Given the description of an element on the screen output the (x, y) to click on. 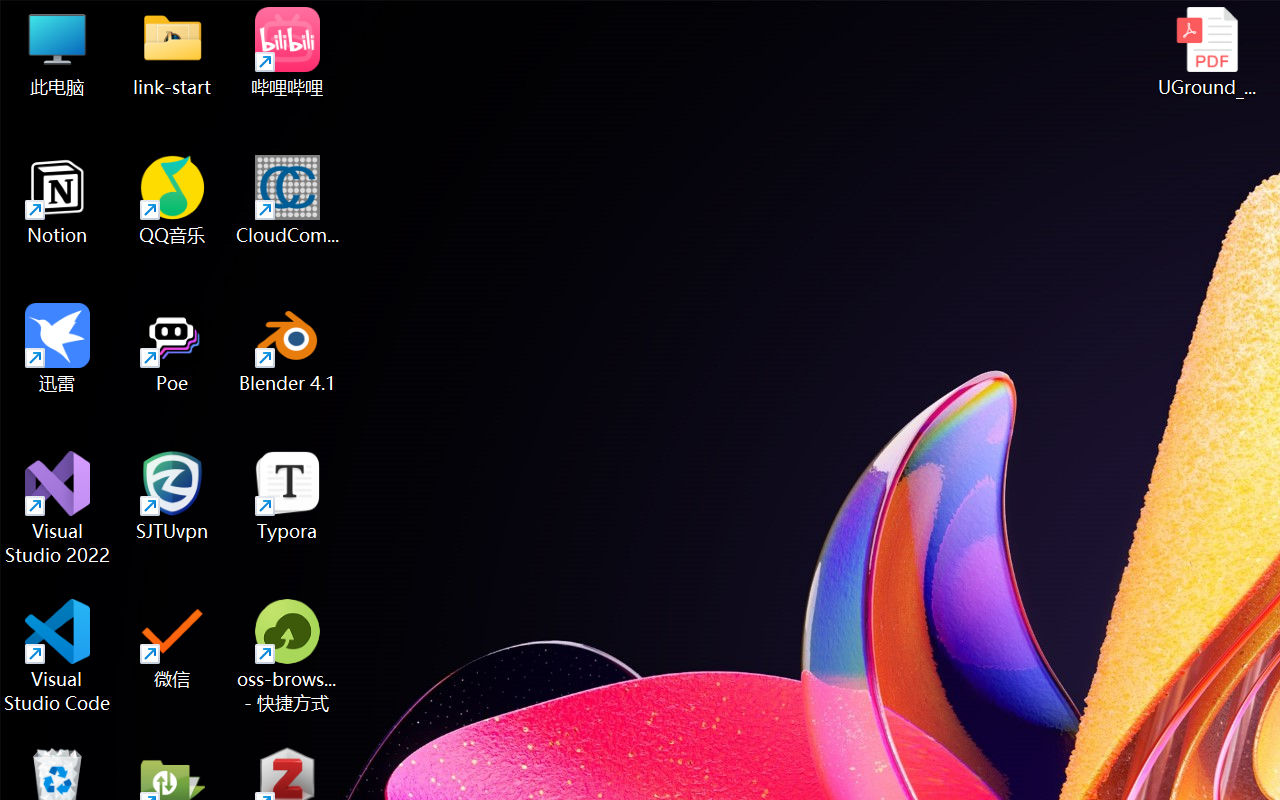
CloudCompare (287, 200)
Visual Studio 2022 (57, 508)
Blender 4.1 (287, 348)
Typora (287, 496)
UGround_paper.pdf (1206, 52)
Visual Studio Code (57, 656)
